Given the description of an element on the screen output the (x, y) to click on. 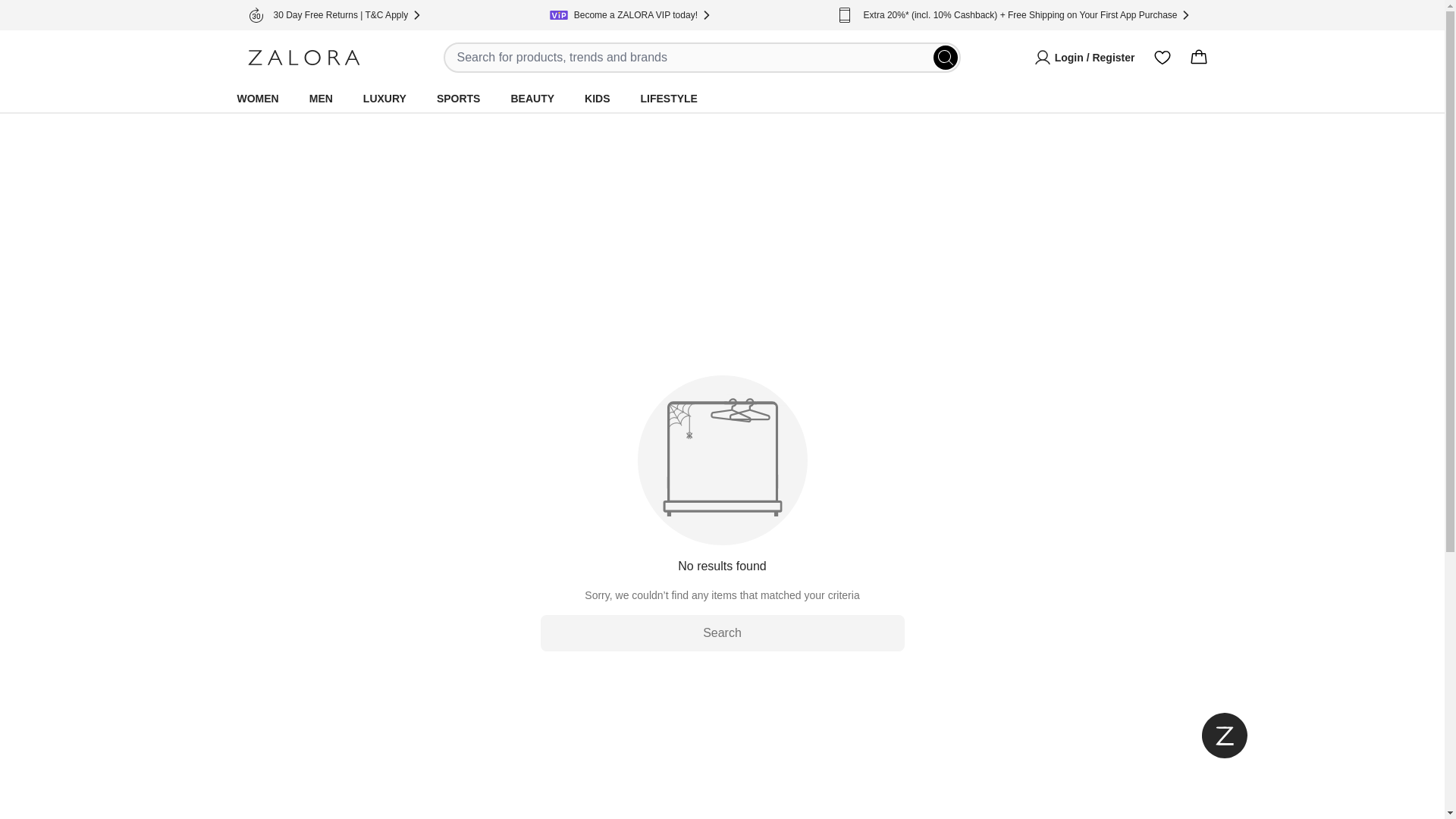
LUXURY (384, 98)
SPORTS (459, 98)
Search (722, 633)
KIDS (596, 98)
Become a ZALORA VIP today! (635, 15)
MEN (321, 98)
Become a ZALORA VIP today! (633, 14)
LIFESTYLE (668, 98)
BEAUTY (531, 98)
WOMEN (256, 98)
